Given the description of an element on the screen output the (x, y) to click on. 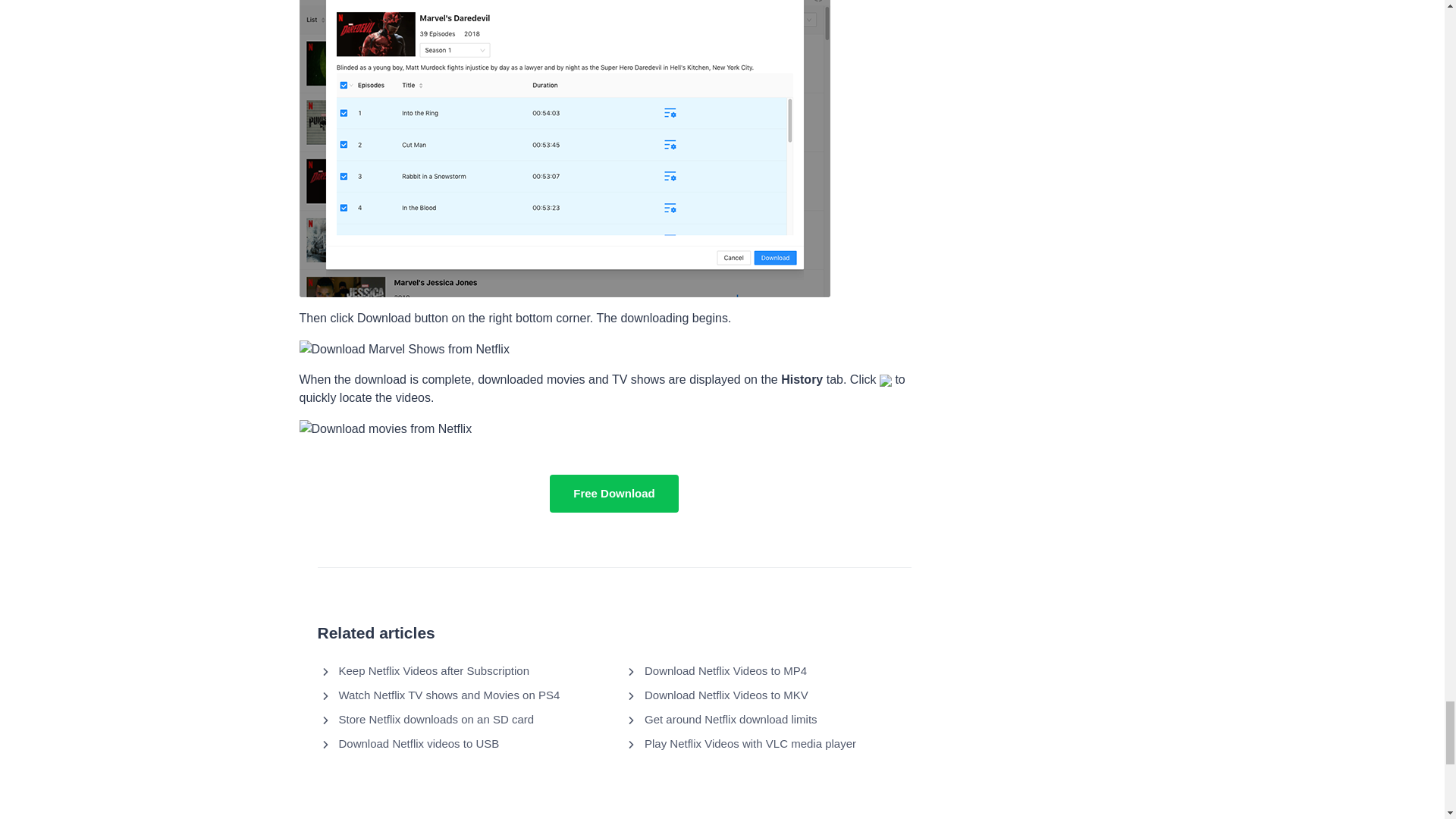
Watch Netflix TV shows and Movies on PS4 (448, 695)
Store Netflix downloads on an SD card (435, 719)
Keep Netflix Videos after Subscription (433, 671)
Free Download (614, 494)
